Given the description of an element on the screen output the (x, y) to click on. 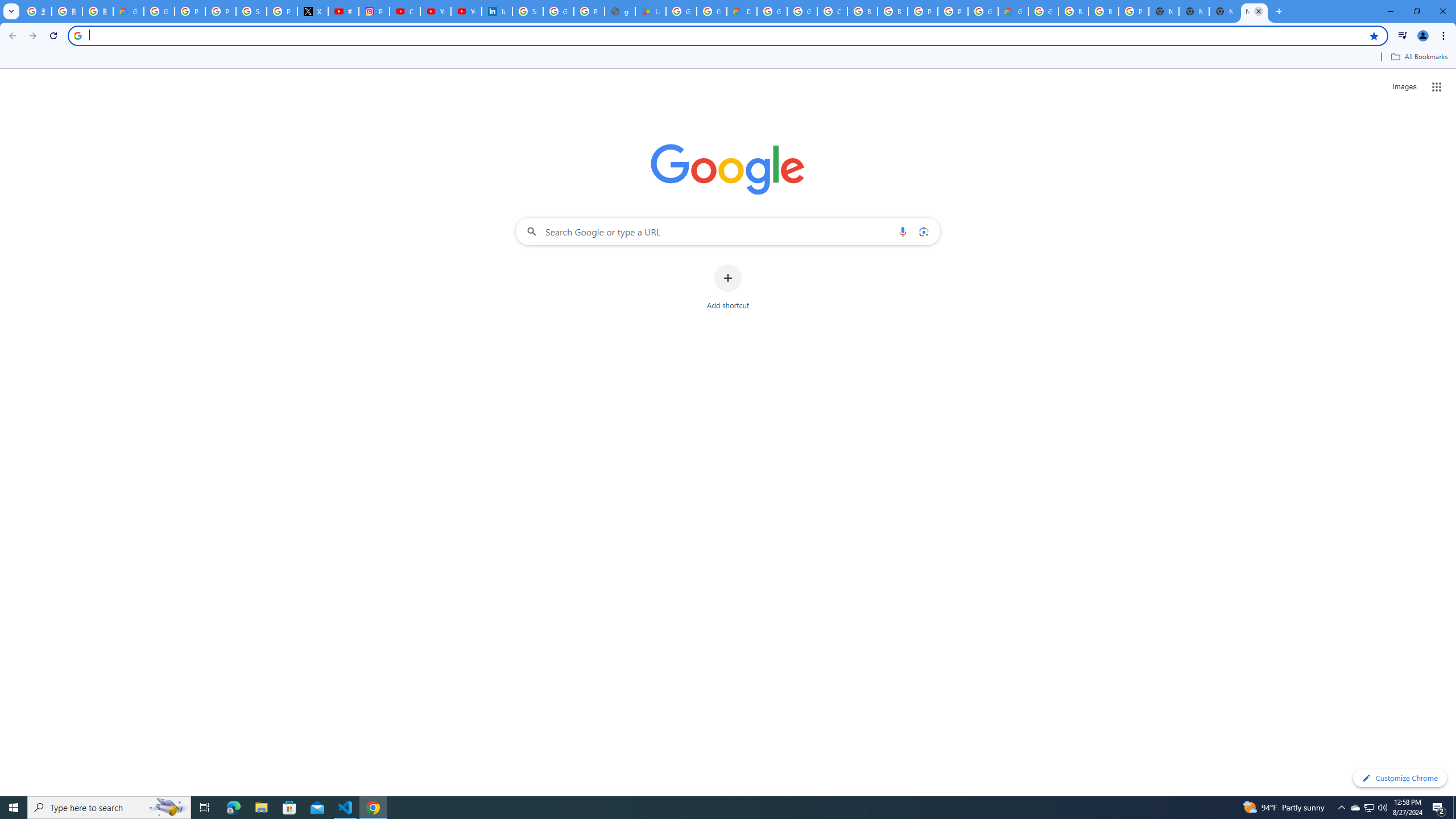
Browse Chrome as a guest - Computer - Google Chrome Help (1072, 11)
Google Cloud Estimate Summary (1012, 11)
Google Cloud Privacy Notice (127, 11)
Search Google or type a URL (727, 230)
#nbabasketballhighlights - YouTube (343, 11)
Privacy Help Center - Policies Help (220, 11)
